Given the description of an element on the screen output the (x, y) to click on. 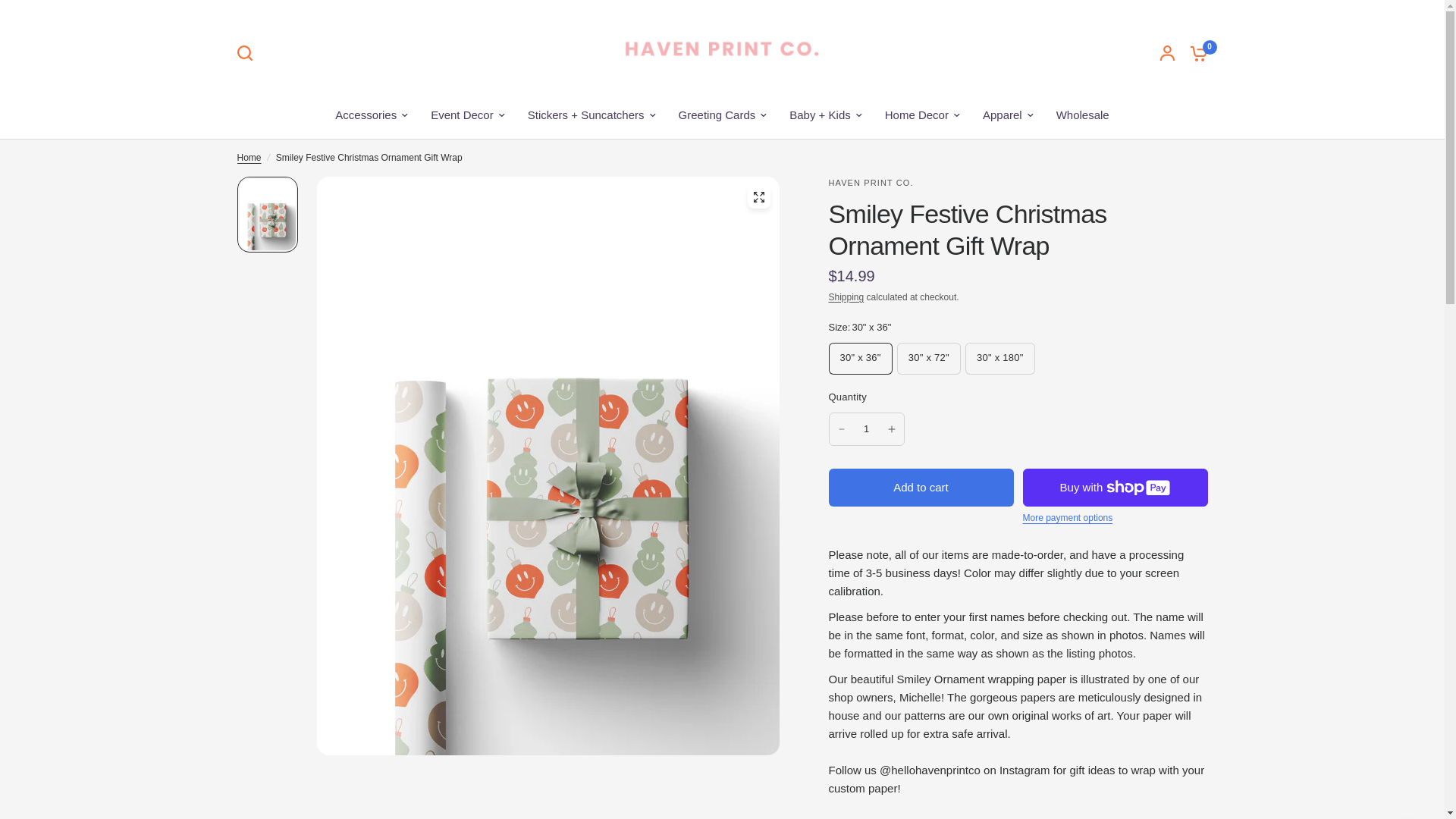
1 (866, 429)
